Given the description of an element on the screen output the (x, y) to click on. 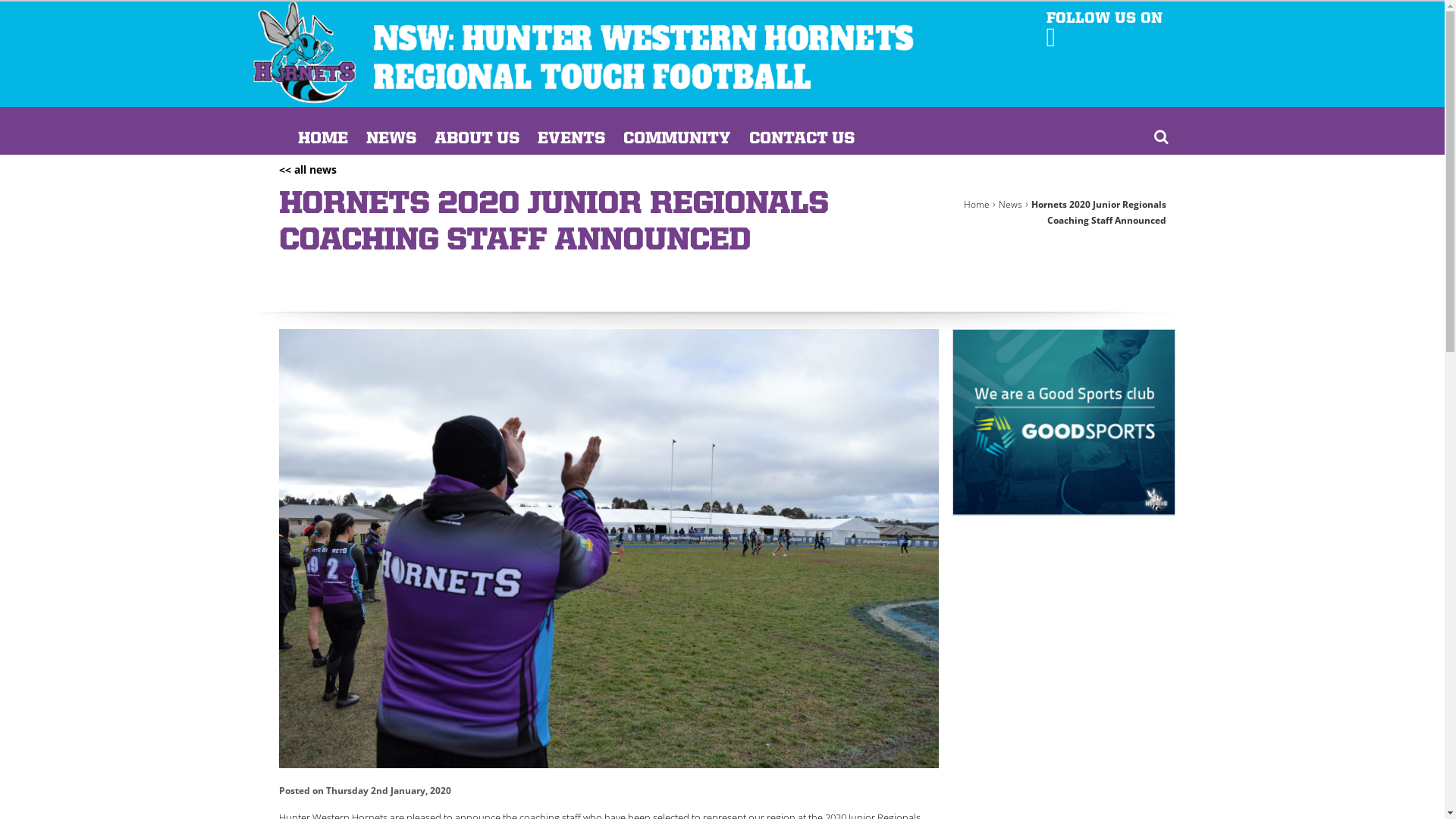
EVENTS Element type: text (570, 138)
HOME Element type: text (321, 138)
COMMUNITY Element type: text (676, 138)
<< all news Element type: text (307, 169)
Home Element type: text (975, 203)
News Element type: text (1009, 203)
CONTACT US Element type: text (801, 138)
ABOUT US Element type: text (476, 138)
NEWS Element type: text (390, 138)
